Given the description of an element on the screen output the (x, y) to click on. 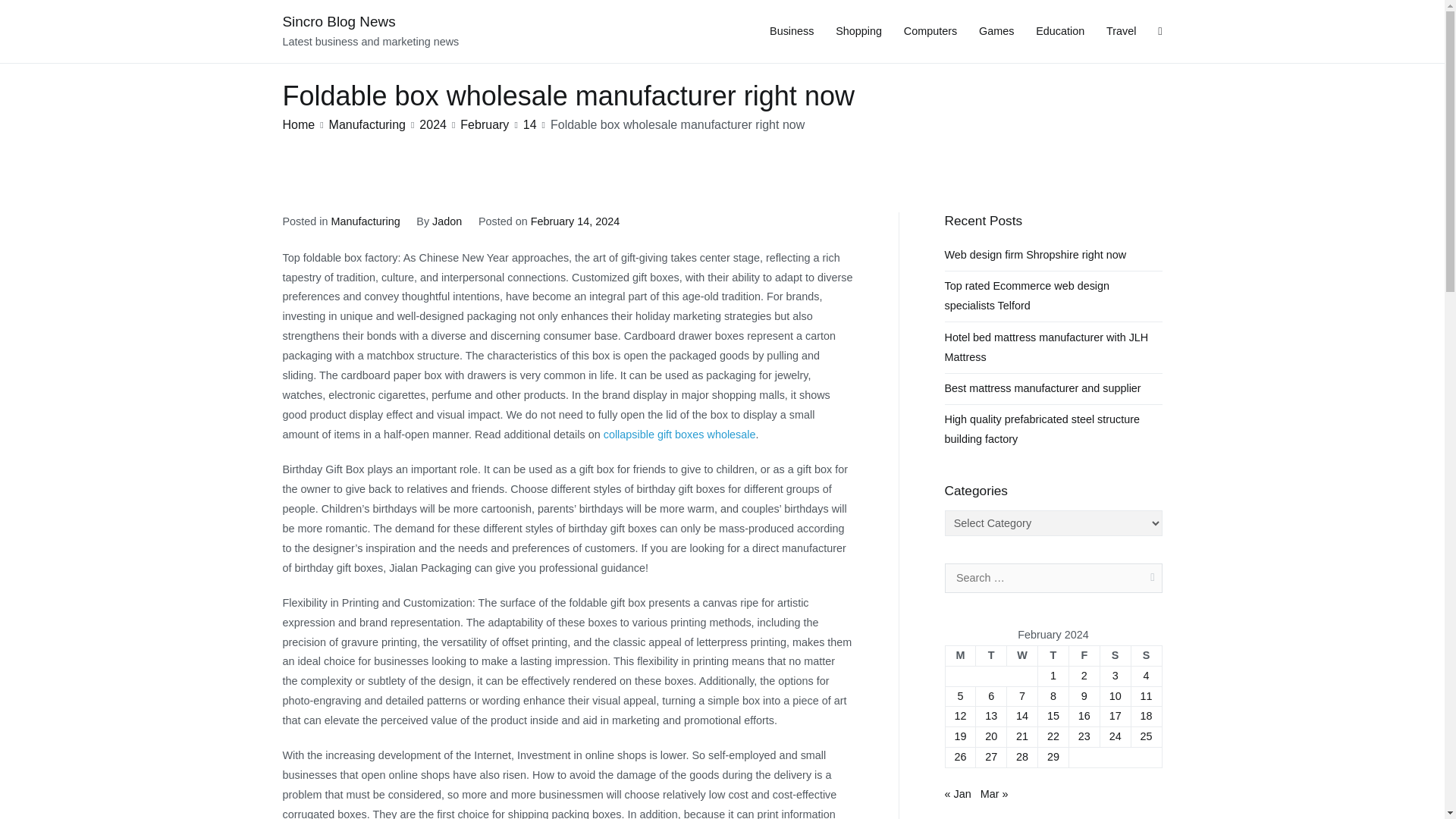
Computers (930, 31)
Shopping (858, 31)
Monday (959, 655)
Search (28, 13)
Saturday (1115, 655)
Best mattress manufacturer and supplier (1042, 388)
2024 (432, 124)
Friday (1083, 655)
collapsible gift boxes wholesale (679, 434)
Top rated Ecommerce web design specialists Telford (1052, 296)
